Given the description of an element on the screen output the (x, y) to click on. 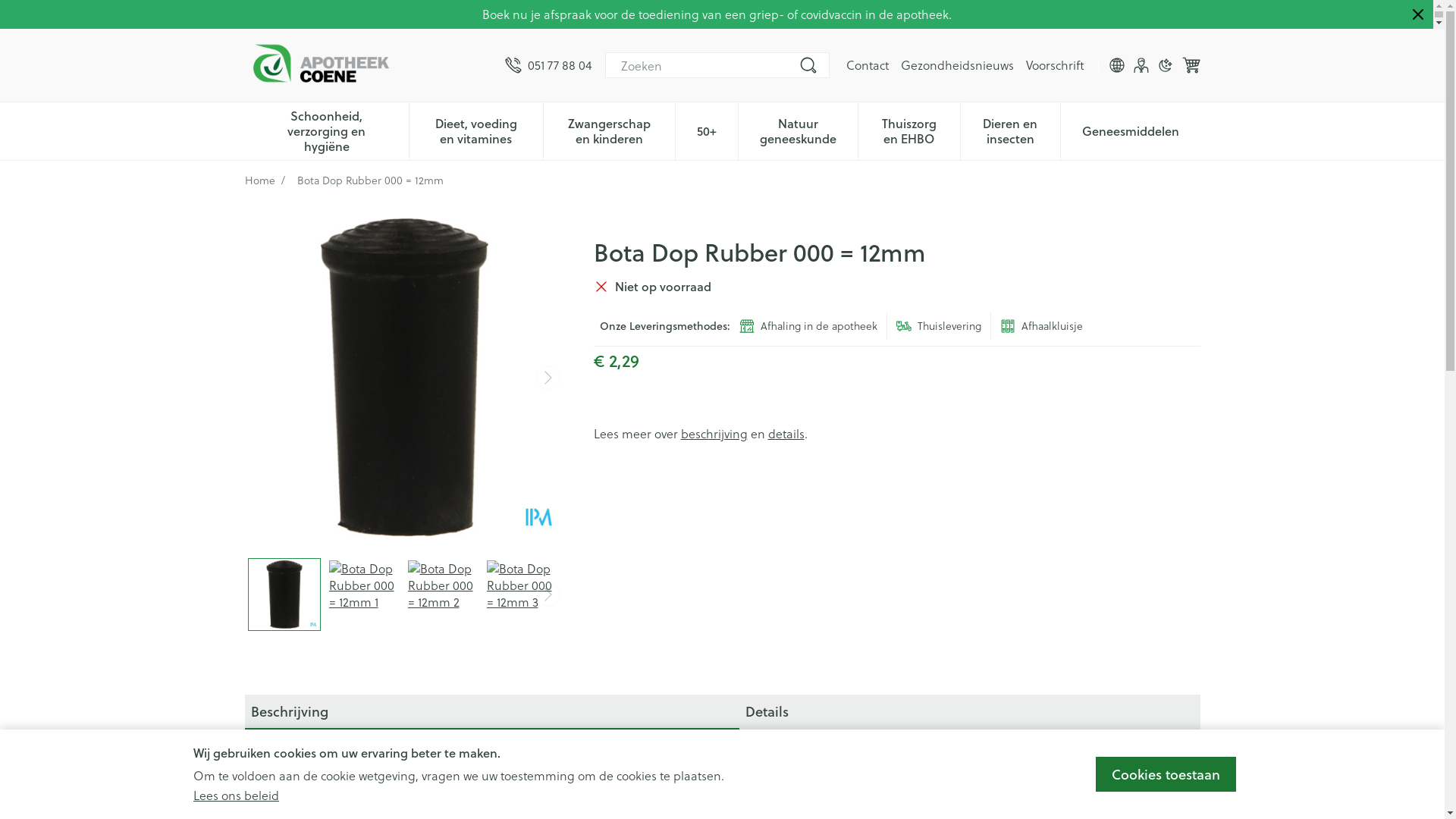
Apotheek Coene Element type: hover (319, 64)
Bota Dop Rubber 000 = 12mm 3 Element type: hover (520, 594)
Apotheek Coene Element type: hover (368, 64)
Zoeken Element type: text (808, 65)
Talen Element type: text (1115, 64)
Lees ons beleid Element type: text (236, 794)
Thuiszorg en EHBO Element type: text (909, 129)
Home Element type: text (259, 180)
Bota Dop Rubber 000 = 12mm 2 Element type: hover (441, 594)
Geneesmiddelen Element type: text (1130, 129)
Winkelwagen Element type: text (1190, 65)
Klant menu Element type: text (1140, 64)
50+ Element type: text (706, 129)
Donkere modus Element type: text (1164, 64)
Dieren en insecten Element type: text (1010, 129)
Bota Dop Rubber 000 = 12mm Element type: hover (403, 377)
Voorschrift Element type: text (1054, 64)
Cookies toestaan Element type: text (1165, 773)
Gezondheidsnieuws Element type: text (956, 64)
051 77 88 04 Element type: text (548, 64)
Bota Dop Rubber 000 = 12mm 1 Element type: hover (363, 594)
Natuur geneeskunde Element type: text (797, 129)
Bota Dop Rubber 000 = 12mm Element type: hover (284, 594)
Dieet, voeding en vitamines Element type: text (475, 129)
Contact Element type: text (867, 64)
Zwangerschap en kinderen Element type: text (608, 129)
